Given the description of an element on the screen output the (x, y) to click on. 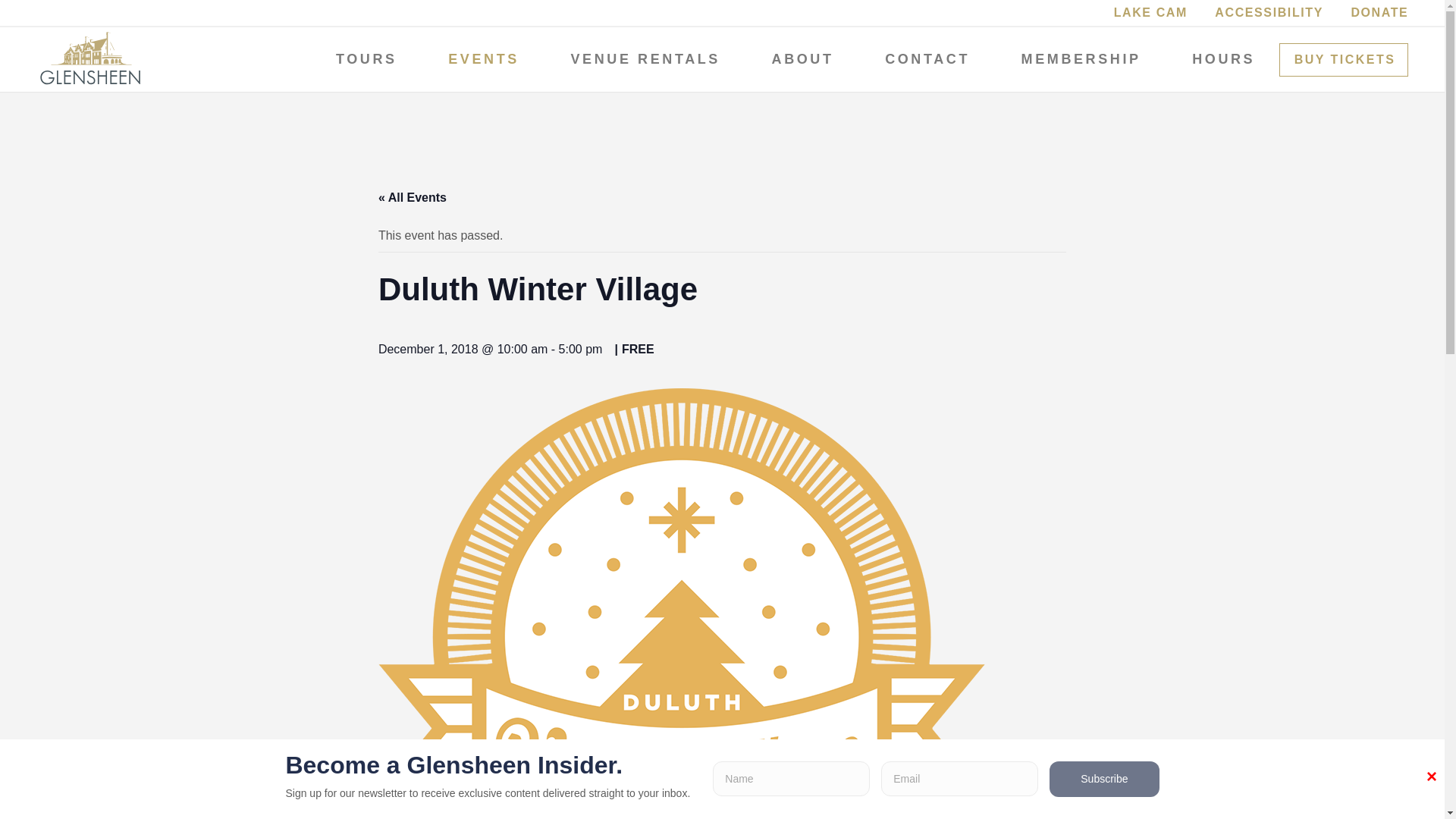
MEMBERSHIP (1079, 59)
Glensheen (90, 57)
CONTACT (925, 59)
DONATE (1379, 11)
VENUE RENTALS (643, 59)
LAKE CAM (1150, 11)
ABOUT (801, 59)
ACCESSIBILITY (1268, 11)
EVENTS (482, 59)
TOURS (364, 59)
HOURS (1222, 59)
BUY TICKETS (1343, 59)
